Given the description of an element on the screen output the (x, y) to click on. 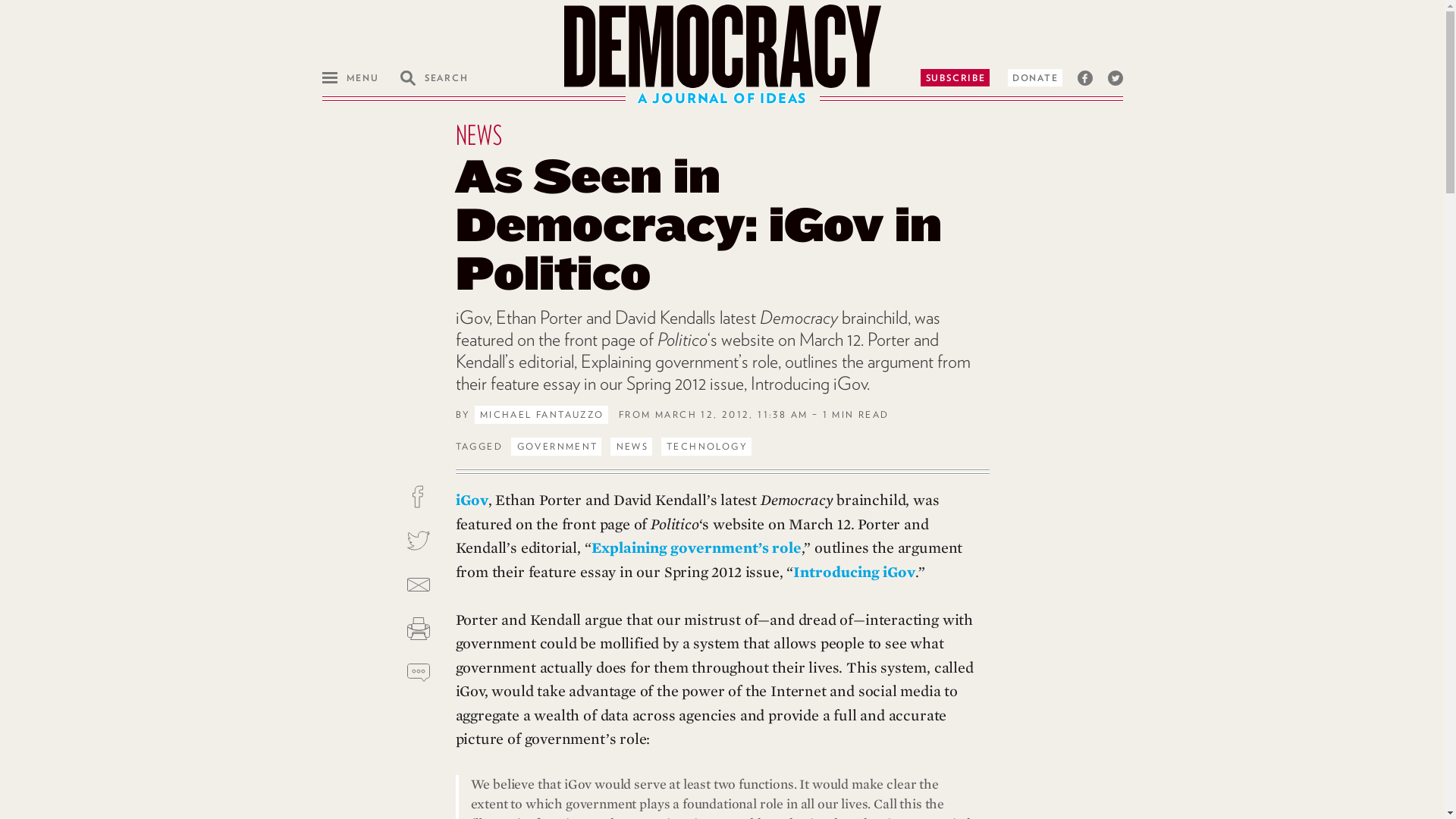
GOVERNMENT (556, 446)
iGov (470, 501)
NEWS (478, 134)
TECHNOLOGY (706, 446)
Introducing iGov (808, 384)
iGov (470, 318)
NEWS (631, 446)
Introducing iGov (854, 573)
MICHAEL FANTAUZZO (541, 414)
